Given the description of an element on the screen output the (x, y) to click on. 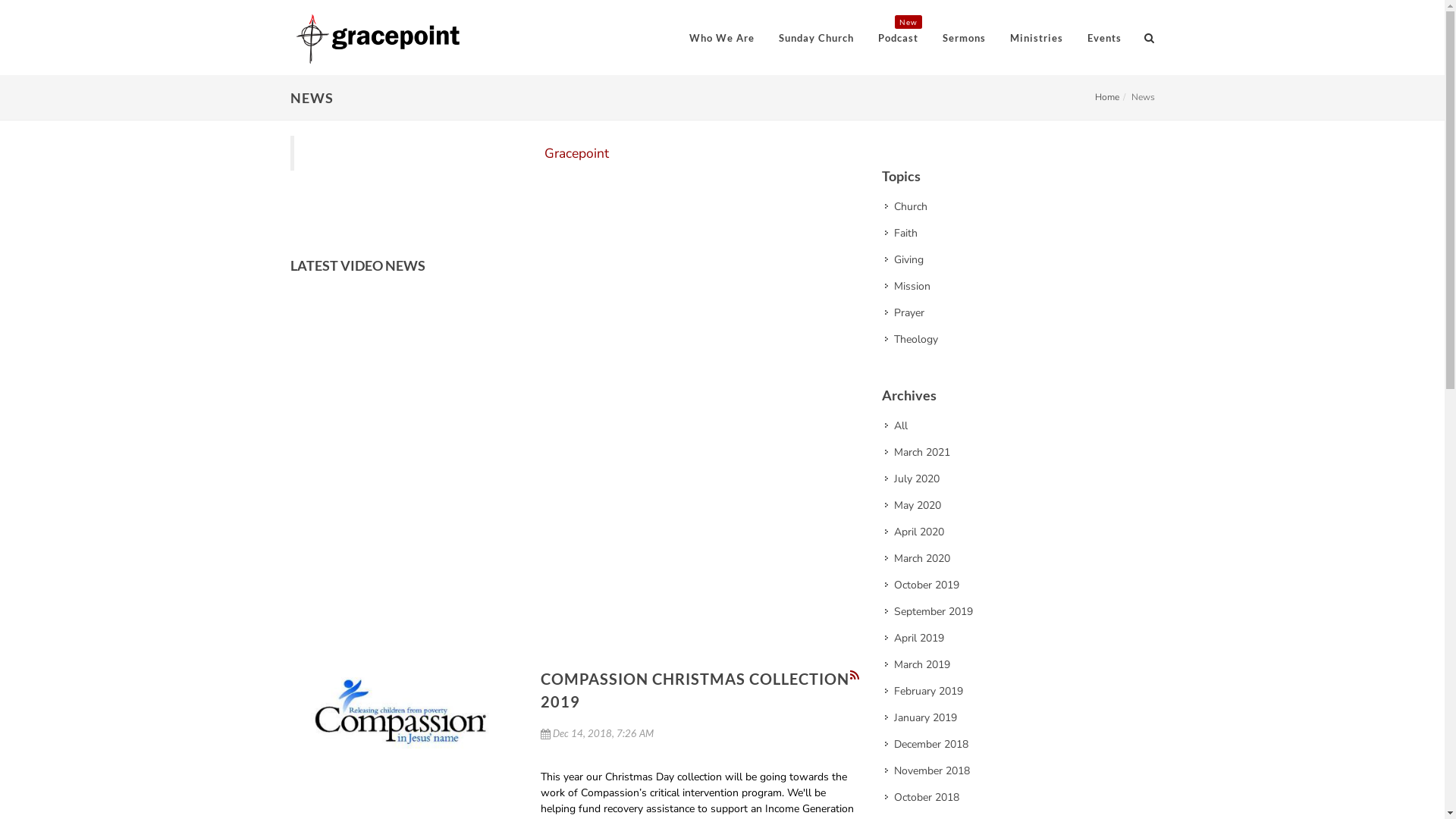
Sermons Element type: text (964, 37)
Sunday Church Element type: text (816, 37)
Faith Element type: text (901, 233)
Podcast
New Element type: text (897, 37)
Theology Element type: text (911, 339)
Giving Element type: text (904, 259)
Ministries Element type: text (1035, 37)
January 2019 Element type: text (921, 717)
September 2019 Element type: text (929, 611)
March 2019 Element type: text (917, 664)
Mission Element type: text (907, 286)
November 2018 Element type: text (927, 770)
December 2018 Element type: text (926, 744)
May 2020 Element type: text (913, 505)
All Element type: text (896, 425)
Events Element type: text (1103, 37)
Home Element type: text (1107, 97)
February 2019 Element type: text (924, 691)
March 2020 Element type: text (917, 558)
Gracepoint Element type: text (576, 153)
Church Element type: text (906, 206)
April 2019 Element type: text (914, 638)
March 2021 Element type: text (917, 452)
October 2018 Element type: text (922, 797)
Who We Are Element type: text (721, 37)
October 2019 Element type: text (922, 585)
April 2020 Element type: text (914, 531)
July 2020 Element type: text (912, 478)
Prayer Element type: text (904, 312)
